Given the description of an element on the screen output the (x, y) to click on. 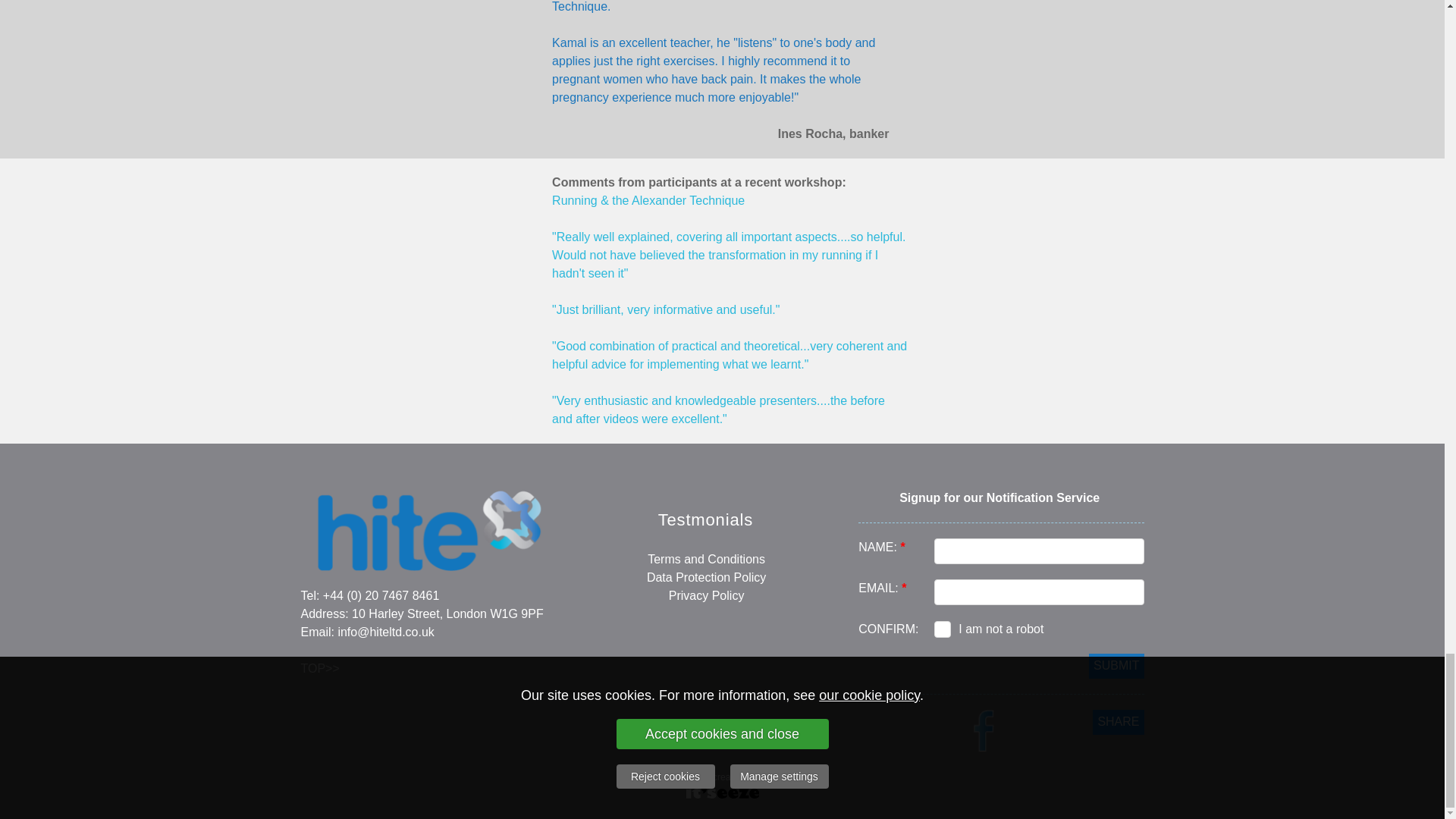
Privacy Policy (706, 594)
Testmonials (705, 521)
Terms and Conditions (706, 558)
SUBMIT (1115, 665)
it'seeze (773, 775)
Data Protection Policy (705, 576)
SHARE (1117, 722)
